Given the description of an element on the screen output the (x, y) to click on. 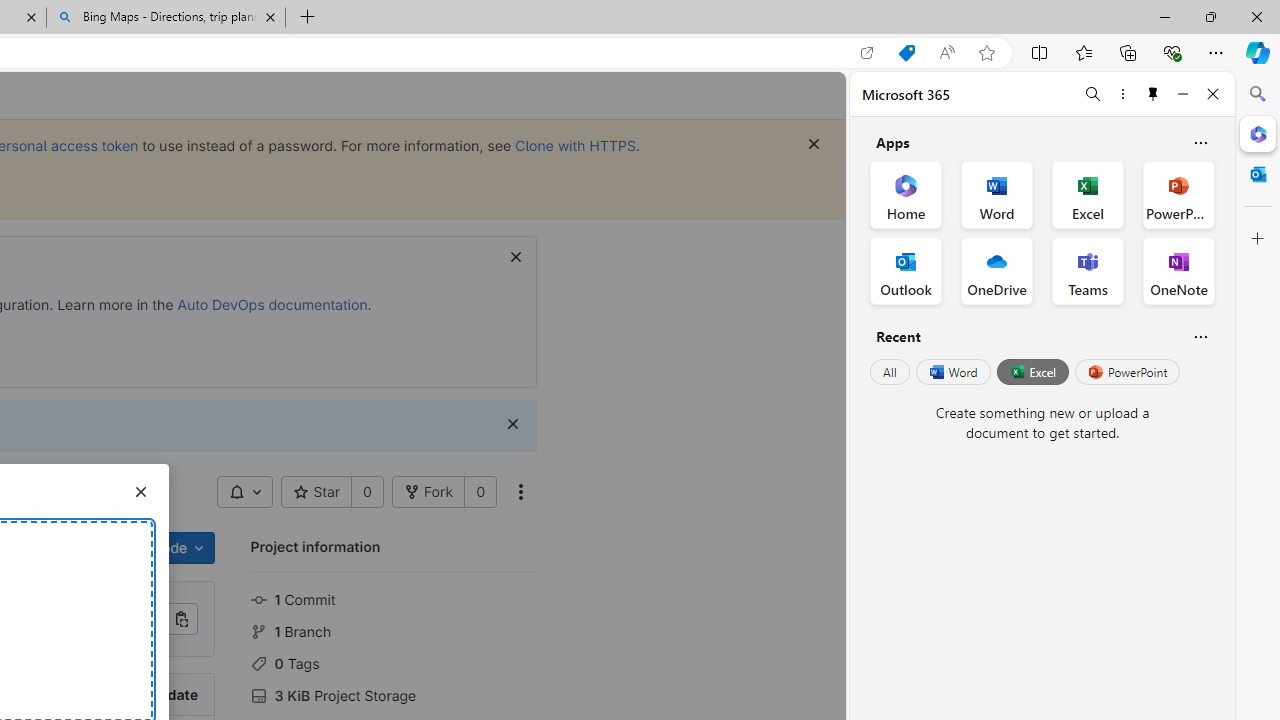
1 Commit (395, 597)
Word (952, 372)
Class: s16 gl-icon gl-button-icon  (512, 424)
0 Tags (395, 662)
AutomationID: __BVID__498__BV_toggle_ (245, 491)
Edit (98, 547)
0 Tags (395, 662)
Copy commit SHA (182, 619)
